Given the description of an element on the screen output the (x, y) to click on. 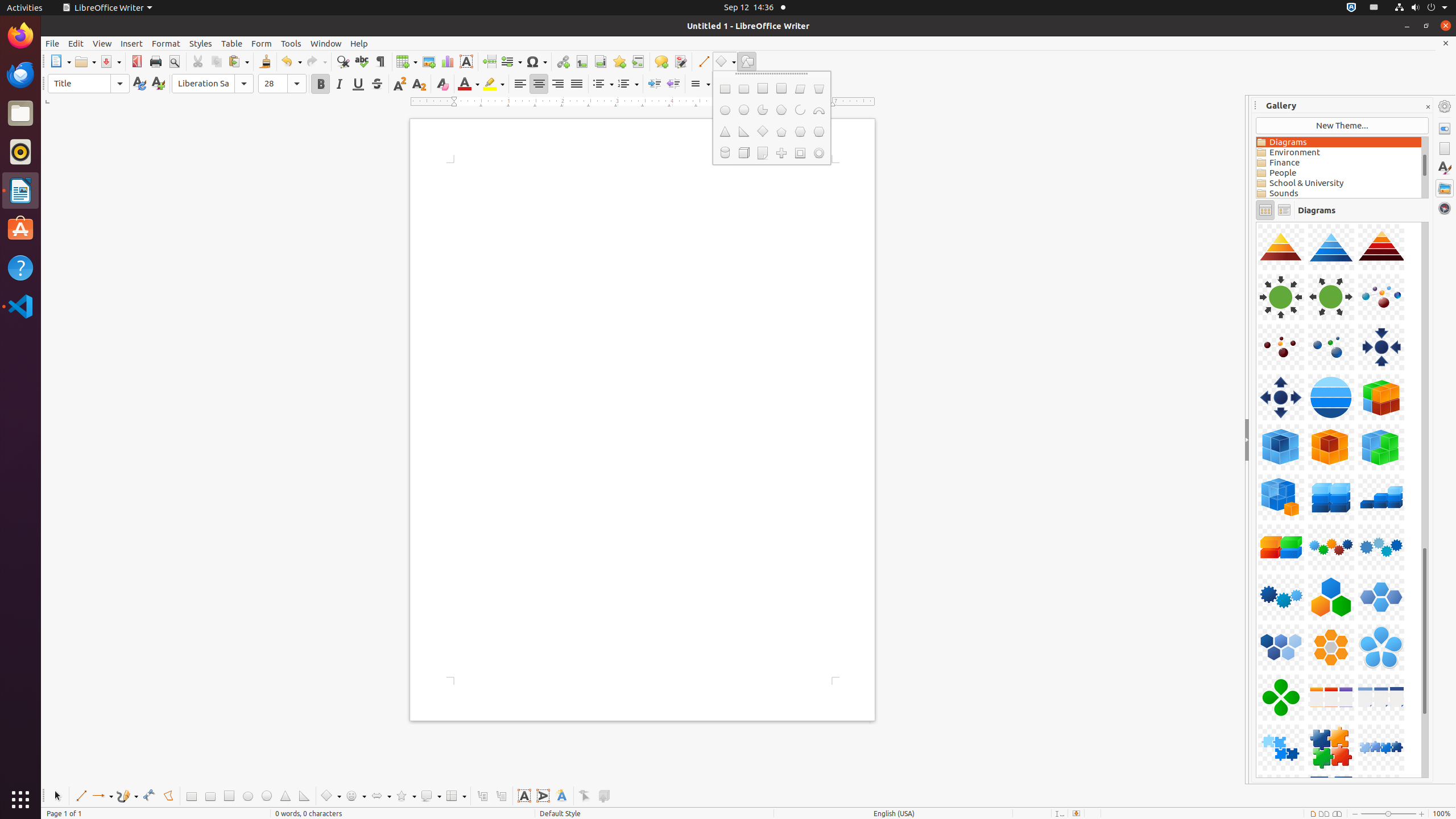
Symbol Shapes Element type: push-button (354, 795)
Paste Element type: push-button (237, 61)
Form Element type: menu (261, 43)
School & University Element type: list-item (1338, 183)
Center Element type: toggle-button (538, 83)
